Given the description of an element on the screen output the (x, y) to click on. 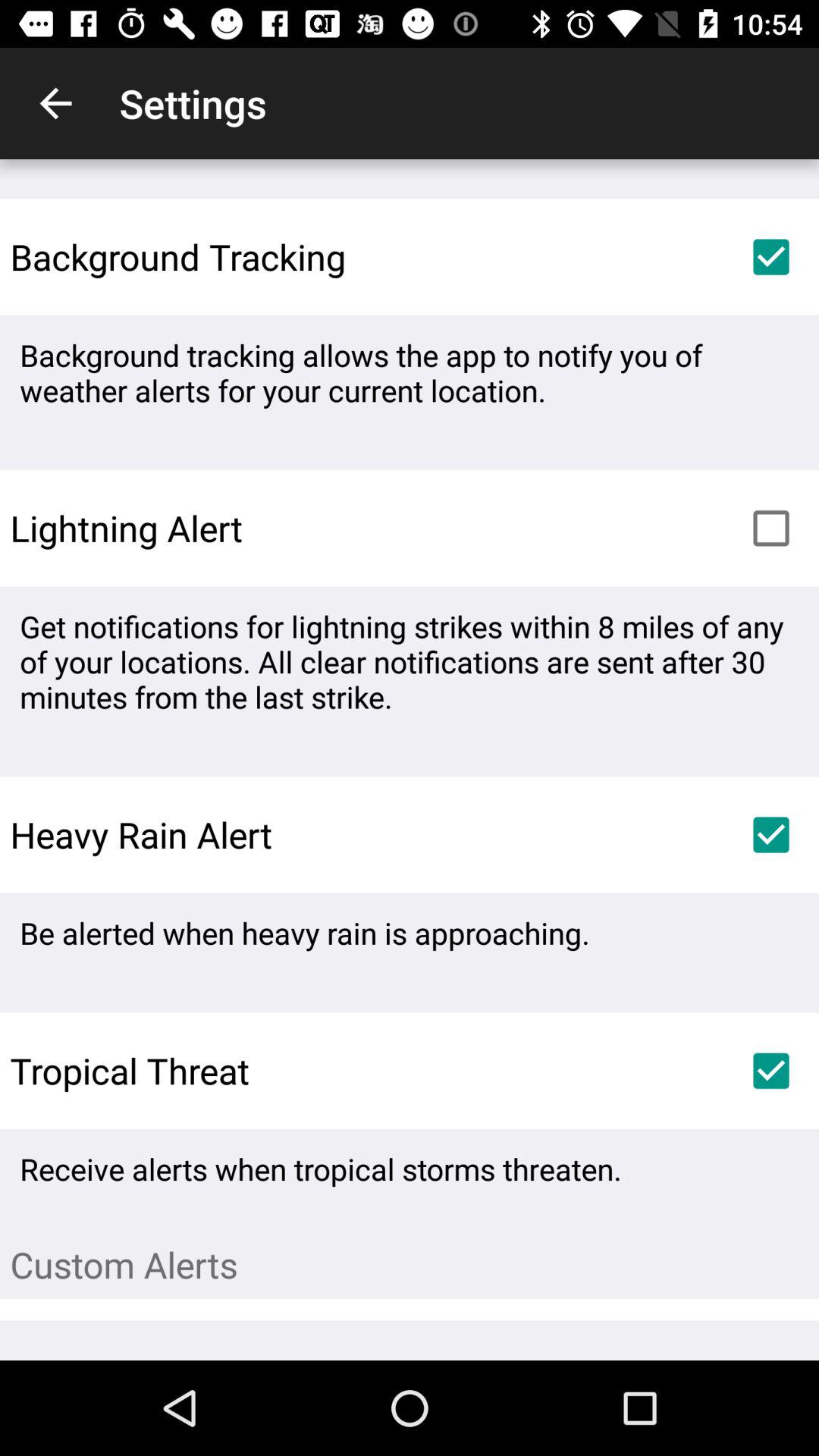
ticked box (771, 1070)
